Given the description of an element on the screen output the (x, y) to click on. 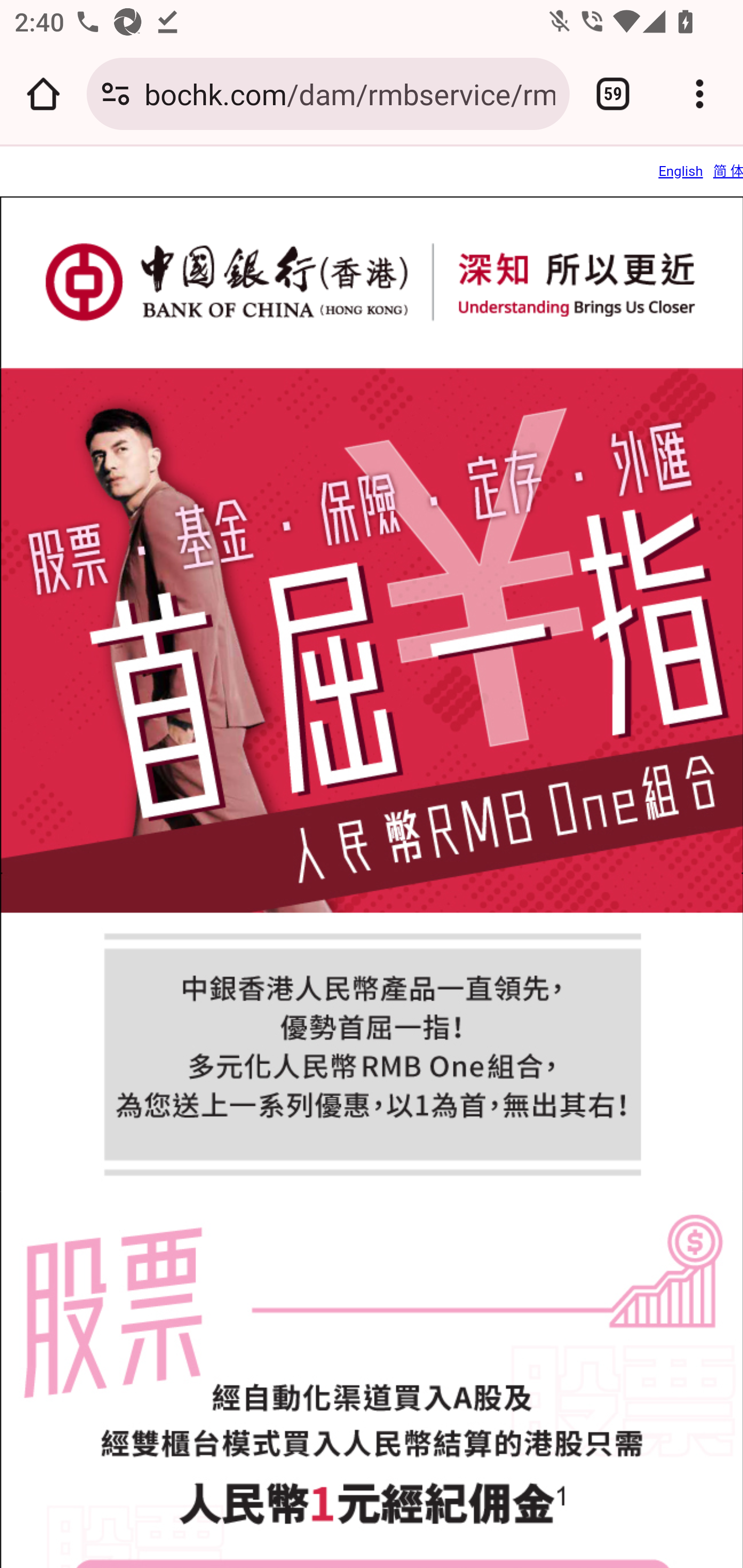
Open the home page (43, 93)
Connection is secure (115, 93)
Switch or close tabs (612, 93)
Customize and control Google Chrome (699, 93)
English (680, 170)
简 体 (727, 170)
